Given the description of an element on the screen output the (x, y) to click on. 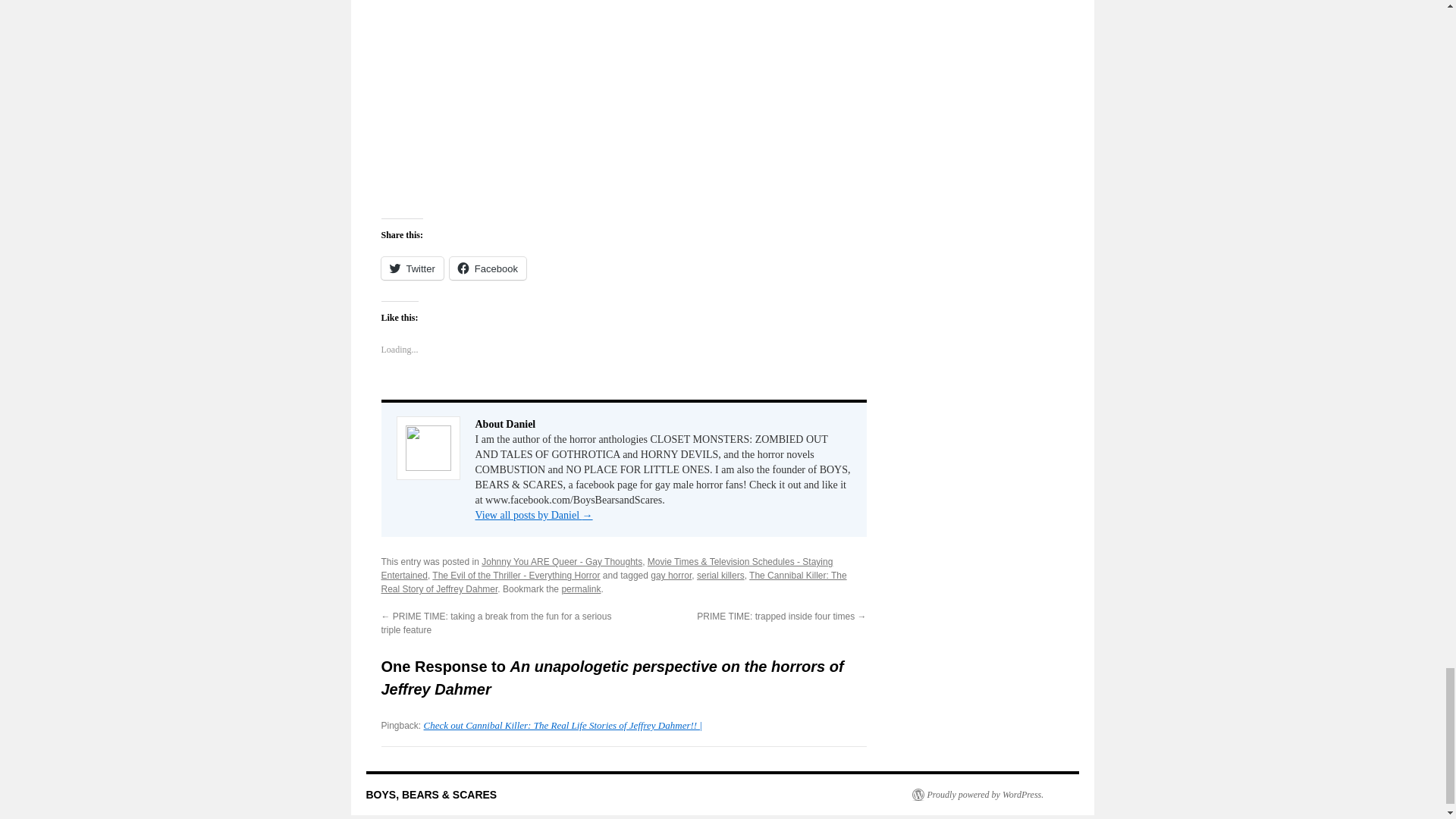
Facebook (487, 268)
Twitter (411, 268)
The Evil of the Thriller - Everything Horror (515, 575)
serial killers (720, 575)
Click to share on Facebook (487, 268)
The Cannibal Killer: The Real Story of Jeffrey Dahmer (612, 582)
Semantic Personal Publishing Platform (977, 794)
gay horror (670, 575)
Click to share on Twitter (411, 268)
Johnny You ARE Queer - Gay Thoughts (561, 561)
